Given the description of an element on the screen output the (x, y) to click on. 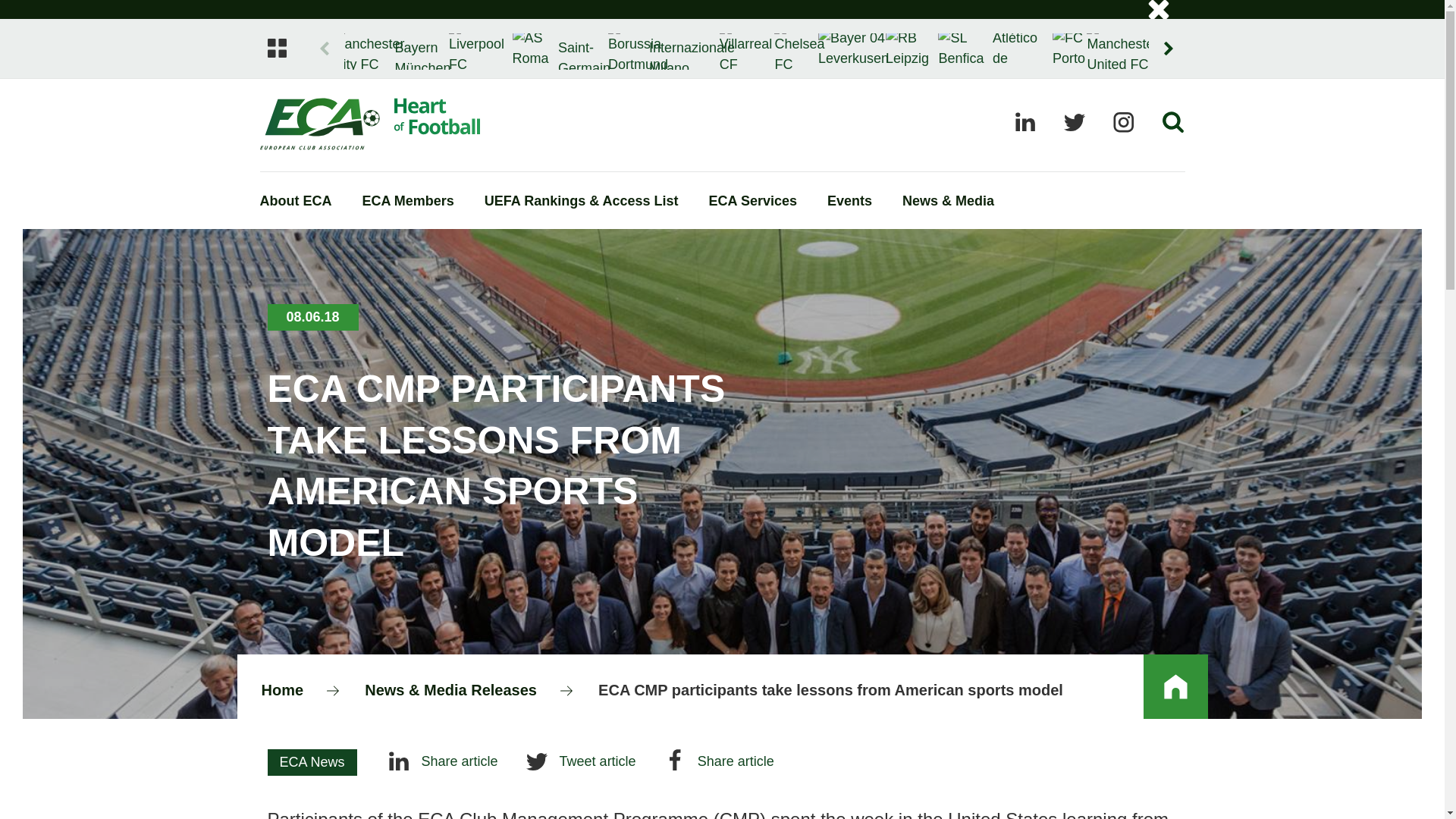
Previous (324, 48)
Search (1160, 41)
Search (1160, 41)
Search (1160, 41)
Open search (1173, 121)
Close cookie policy notice (1158, 10)
Next (1167, 48)
